Given the description of an element on the screen output the (x, y) to click on. 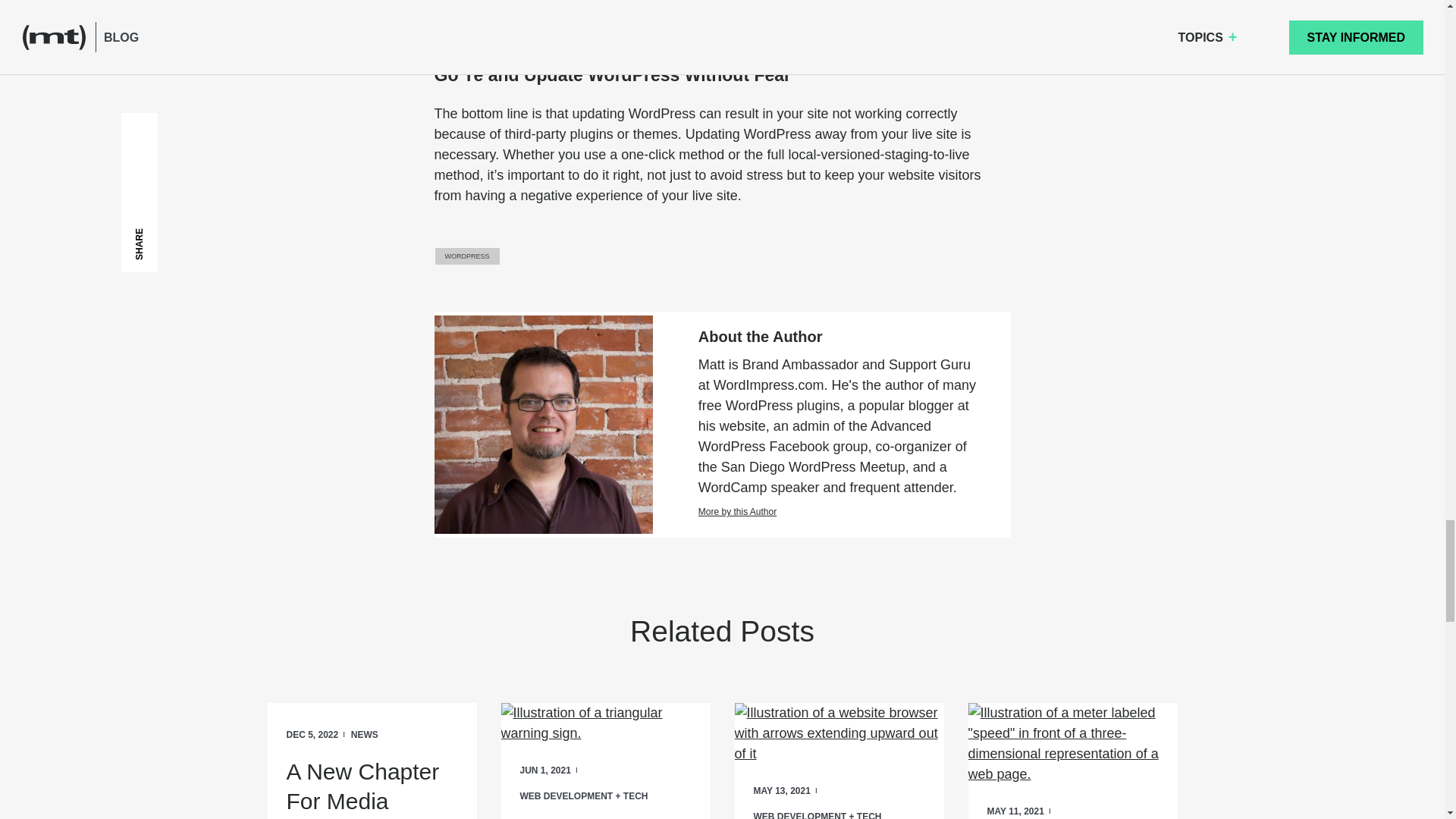
WORDPRESS (467, 256)
A New Chapter For Media Temple (371, 787)
More by this Author (838, 512)
NEWS (364, 734)
